Given the description of an element on the screen output the (x, y) to click on. 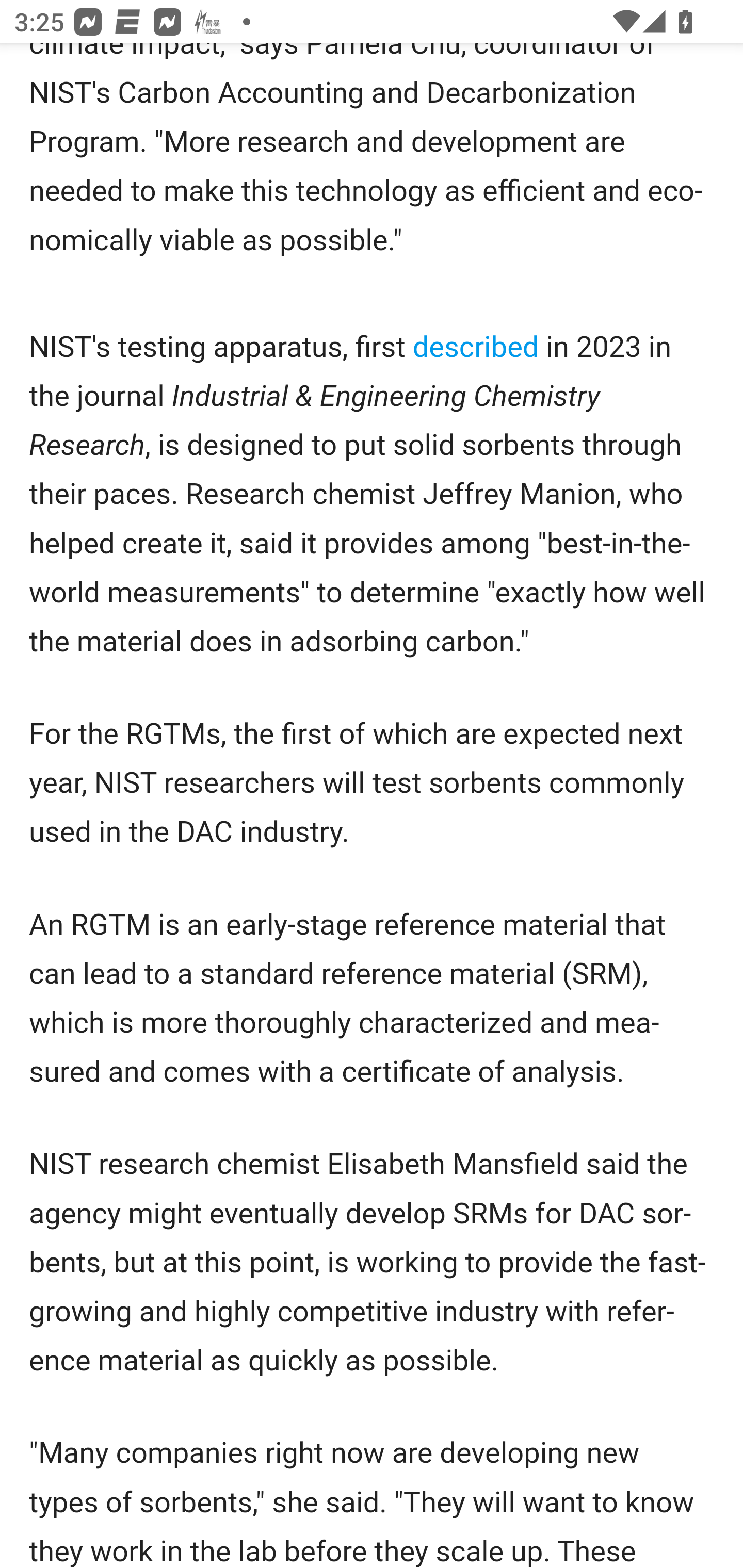
described (475, 347)
